Given the description of an element on the screen output the (x, y) to click on. 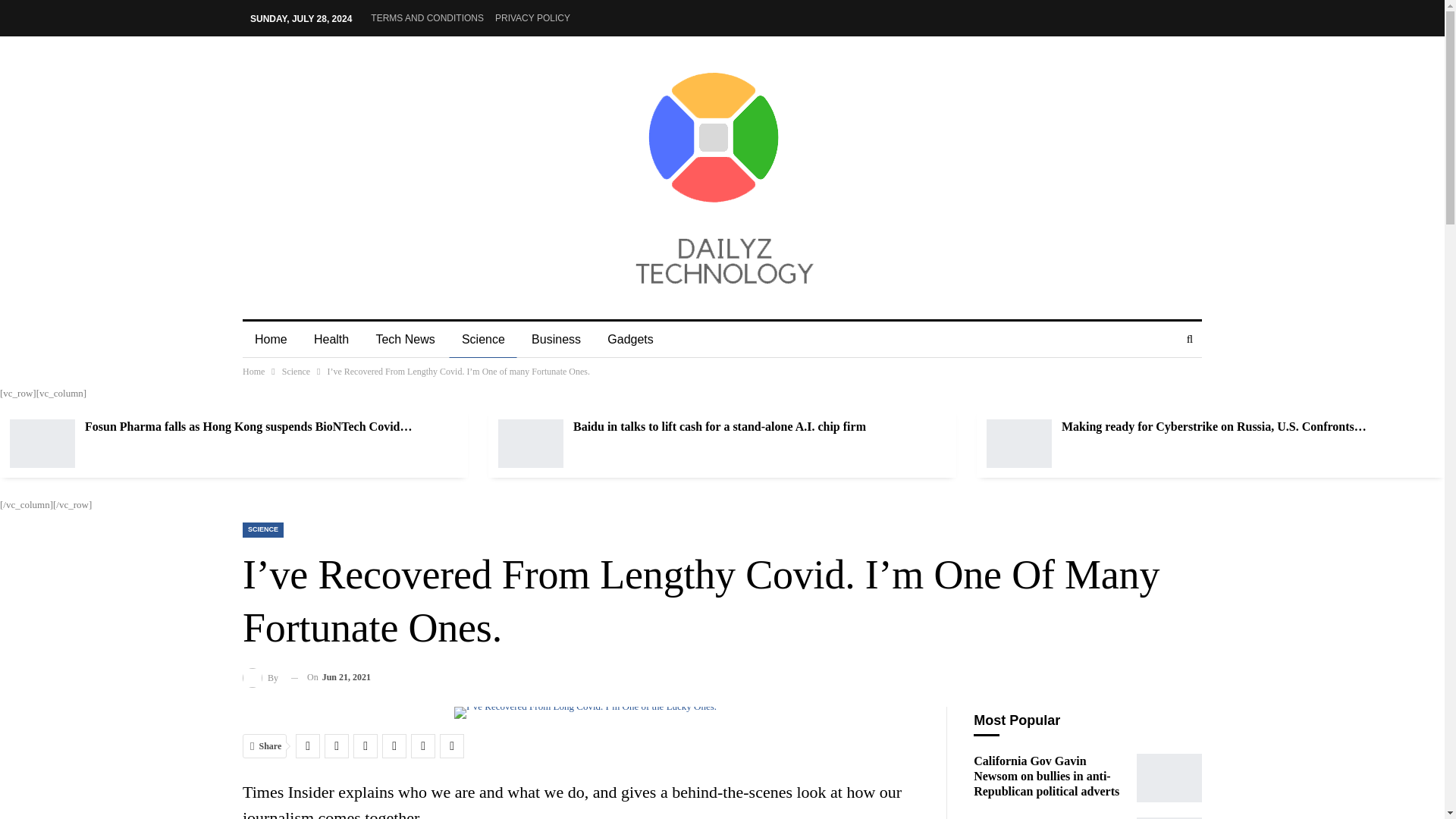
Business (555, 339)
Gadgets (630, 339)
Tech News (404, 339)
Science (482, 339)
TERMS AND CONDITIONS (427, 18)
Baidu in talks to lift cash for a stand-alone A.I. chip firm (719, 426)
Home (253, 371)
By (261, 677)
PRIVACY POLICY (532, 18)
Home (271, 339)
Science (296, 371)
SCIENCE (263, 529)
Health (331, 339)
Browse Author Articles (261, 677)
